Given the description of an element on the screen output the (x, y) to click on. 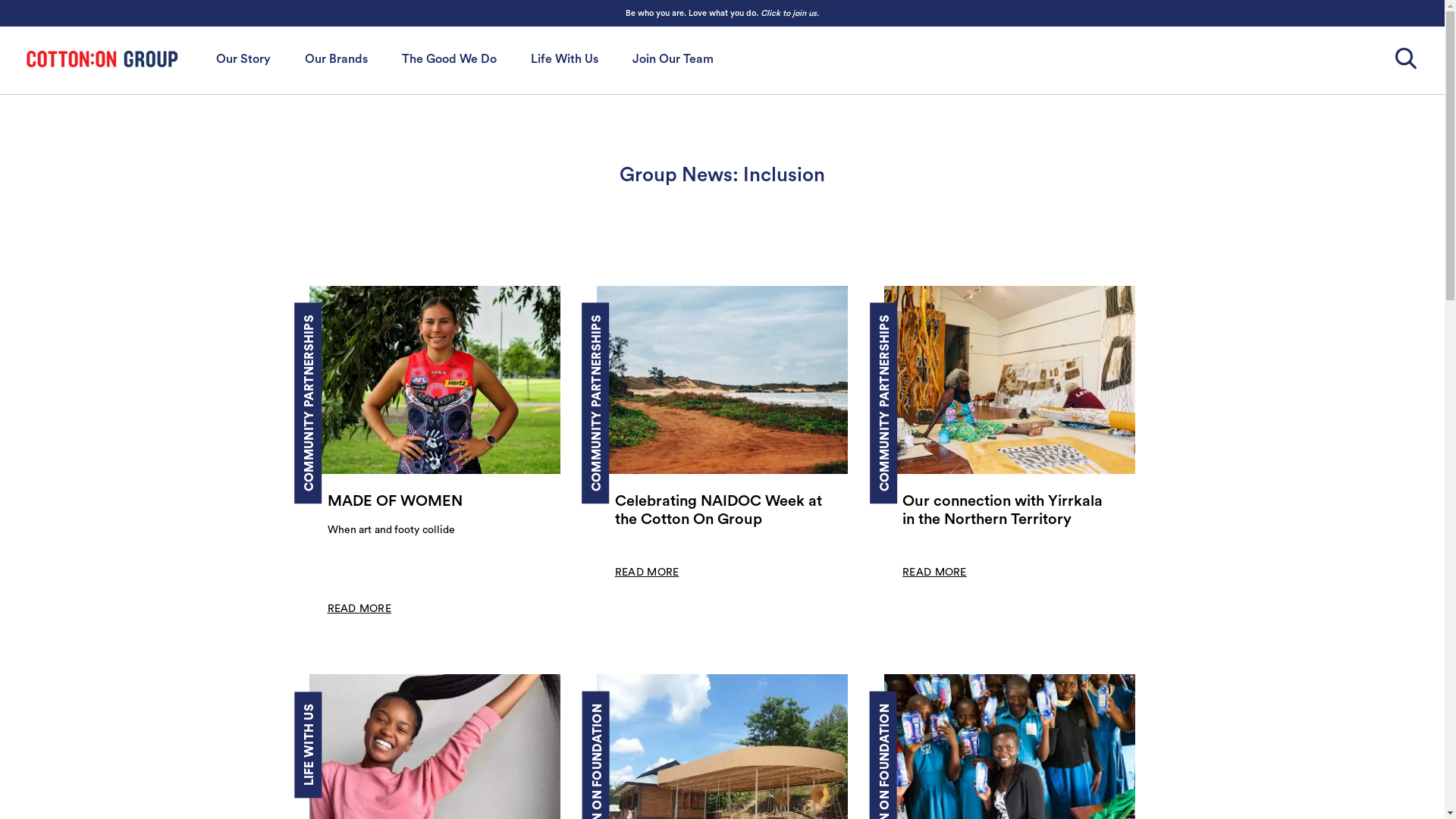
Join Our Team Element type: text (672, 59)
Life With Us Element type: text (564, 59)
COMMUNITY PARTNERSHIPS Element type: text (391, 320)
MADE OF WOMEN Element type: text (434, 501)
Celebrating NAIDOC Week at the Cotton On Group Element type: text (722, 510)
COTTON ON FOUNDATION Element type: text (672, 709)
The Good We Do Element type: text (448, 59)
COMMUNITY PARTNERSHIPS Element type: text (966, 320)
READ MORE Element type: text (434, 608)
READ MORE Element type: text (722, 572)
COTTON ON FOUNDATION Element type: text (960, 709)
Be who you are. Love what you do. Click to join us. Element type: text (722, 13)
LIFE WITH US Element type: text (344, 709)
Our Story Element type: text (243, 59)
COMMUNITY PARTNERSHIPS Element type: text (678, 320)
Our Brands Element type: text (335, 59)
Our connection with Yirrkala in the Northern Territory Element type: text (1009, 510)
READ MORE Element type: text (1009, 572)
